Given the description of an element on the screen output the (x, y) to click on. 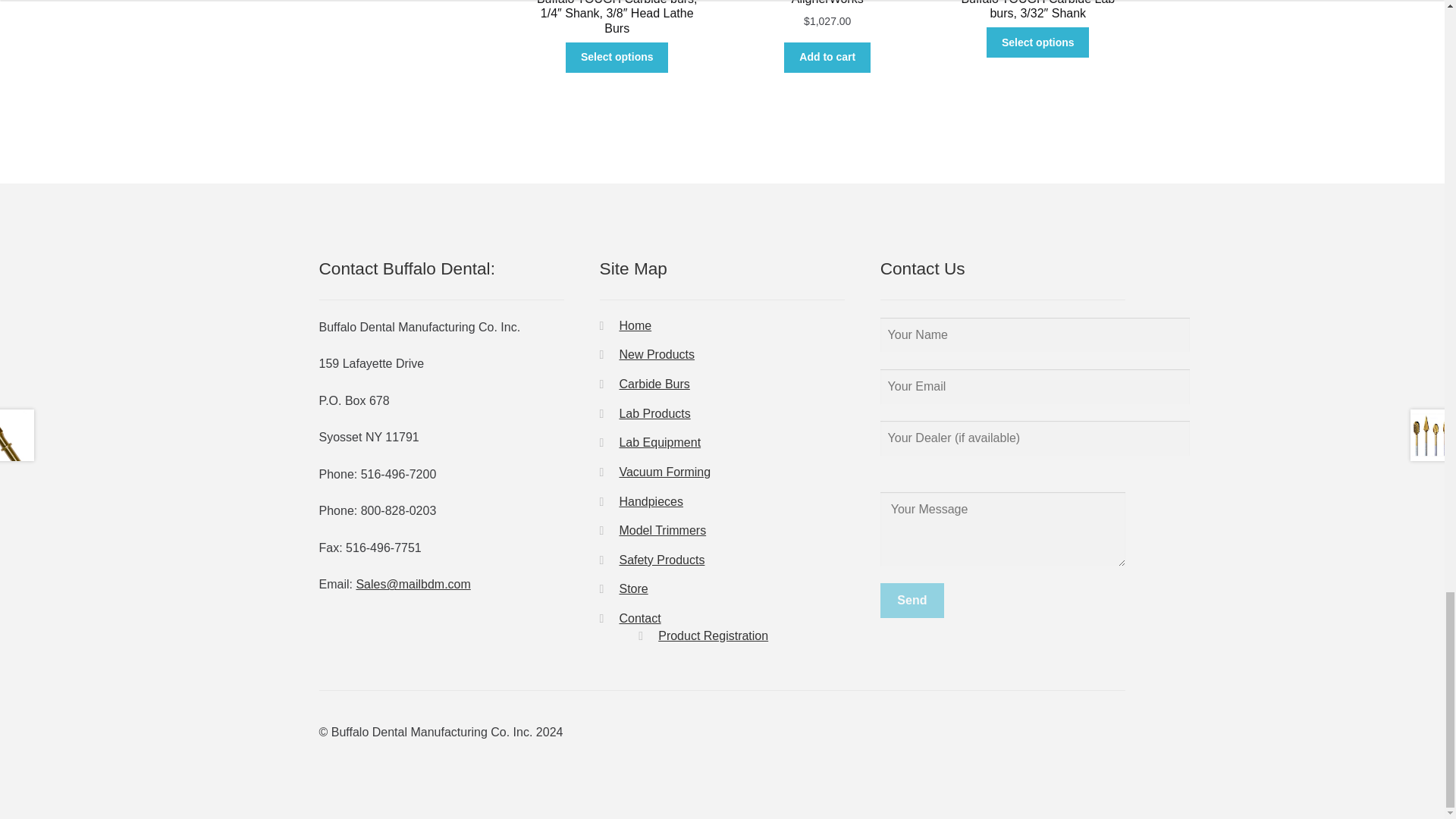
Send (911, 600)
Add to cart (827, 57)
Select options (1038, 42)
Select options (617, 57)
